Given the description of an element on the screen output the (x, y) to click on. 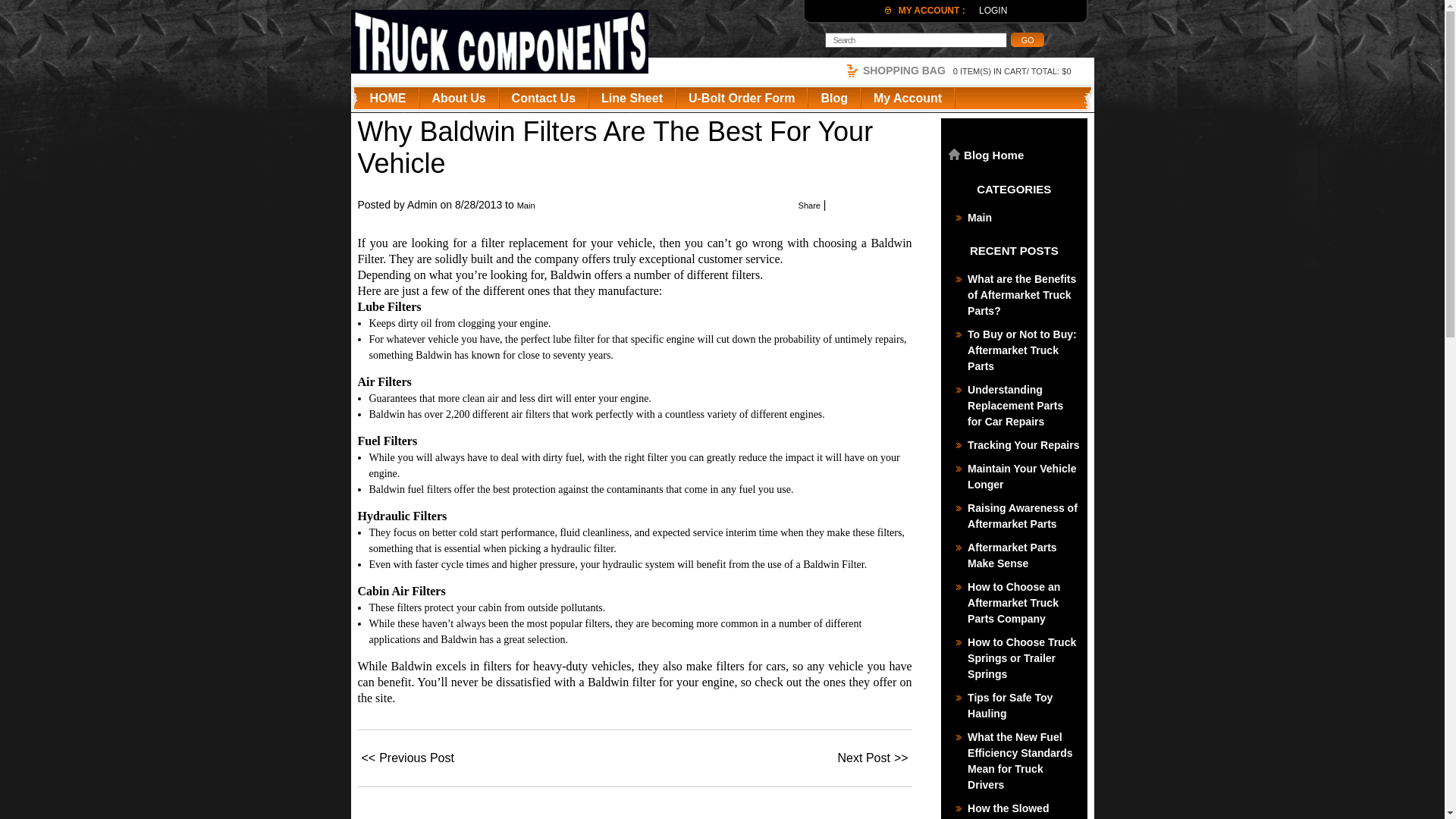
Understanding Replacement Parts for Car Repairs (1019, 405)
Maintain Your Vehicle Longer (1019, 477)
GO (1026, 39)
My Account (907, 97)
HOME (388, 97)
Why Baldwin Filters Are The Best For Your Vehicle (615, 147)
Blog (834, 97)
Contact Us (543, 97)
Blog Home (1017, 154)
LOGIN (992, 9)
U-Bolt Order Form (741, 97)
Aftermarket Parts Make Sense (1019, 555)
GO (1026, 39)
Main (1019, 217)
About Us (458, 97)
